Given the description of an element on the screen output the (x, y) to click on. 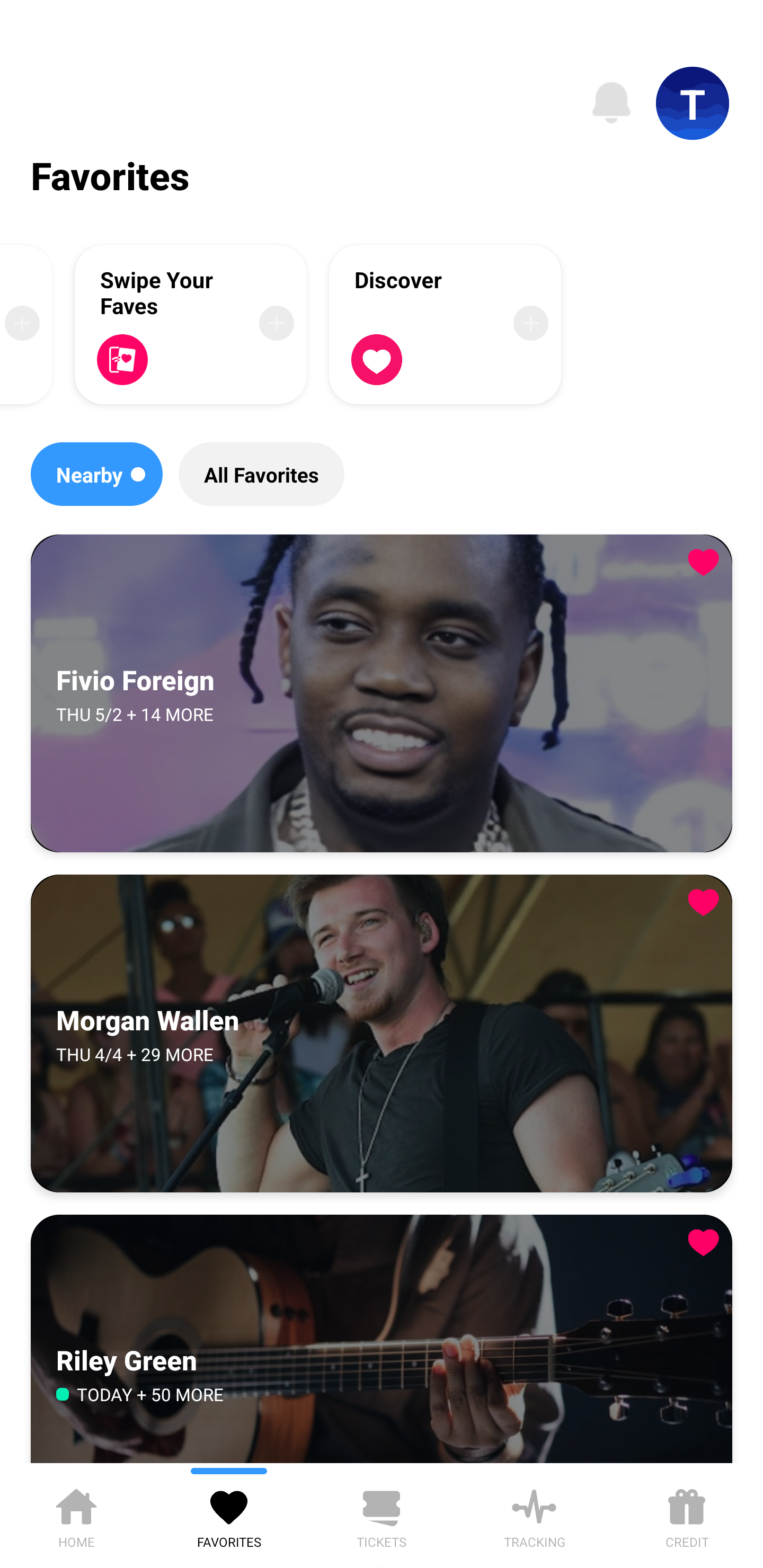
T (692, 103)
Swipe Your  Faves (190, 324)
Discover (444, 324)
Nearby (96, 474)
All Favorites (261, 474)
HOME (76, 1515)
FAVORITES (228, 1515)
TICKETS (381, 1515)
TRACKING (533, 1515)
CREDIT (686, 1515)
